Given the description of an element on the screen output the (x, y) to click on. 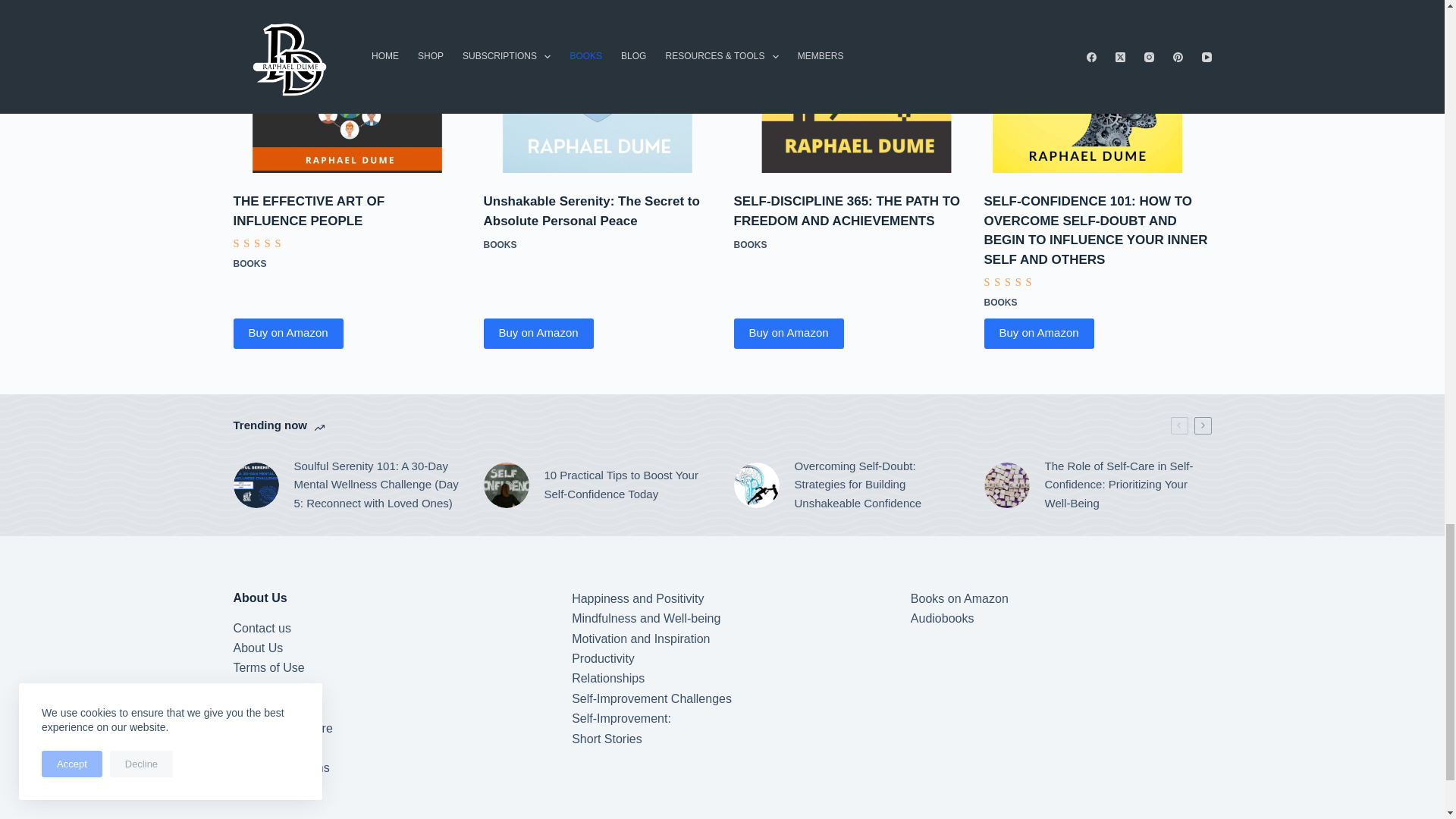
THE EFFECTIVE ART OF INFLUENCE PEOPLE (346, 86)
SELF-DISCIPLINE 365: THE PATH TO FREEDOM AND ACHIEVEMENTS (846, 86)
Unshakable Serenity: The Secret to Absolute Personal Peace (597, 86)
